Given the description of an element on the screen output the (x, y) to click on. 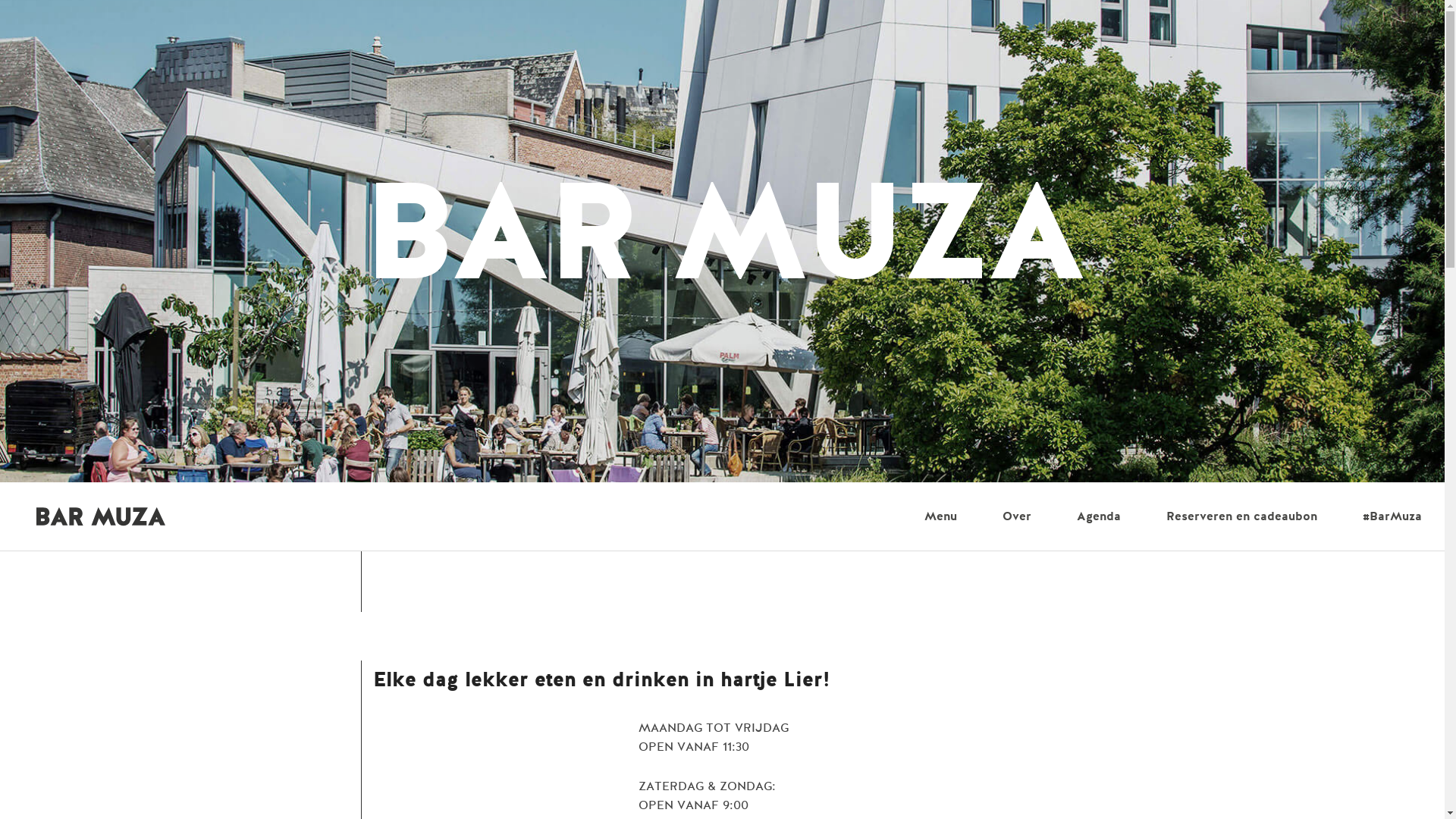
Over Element type: text (1016, 516)
Bar Muza Element type: hover (94, 516)
Agenda Element type: text (1098, 516)
Reserveren en cadeaubon Element type: text (1241, 516)
Menu Element type: text (940, 516)
#BarMuza Element type: text (1391, 516)
